Given the description of an element on the screen output the (x, y) to click on. 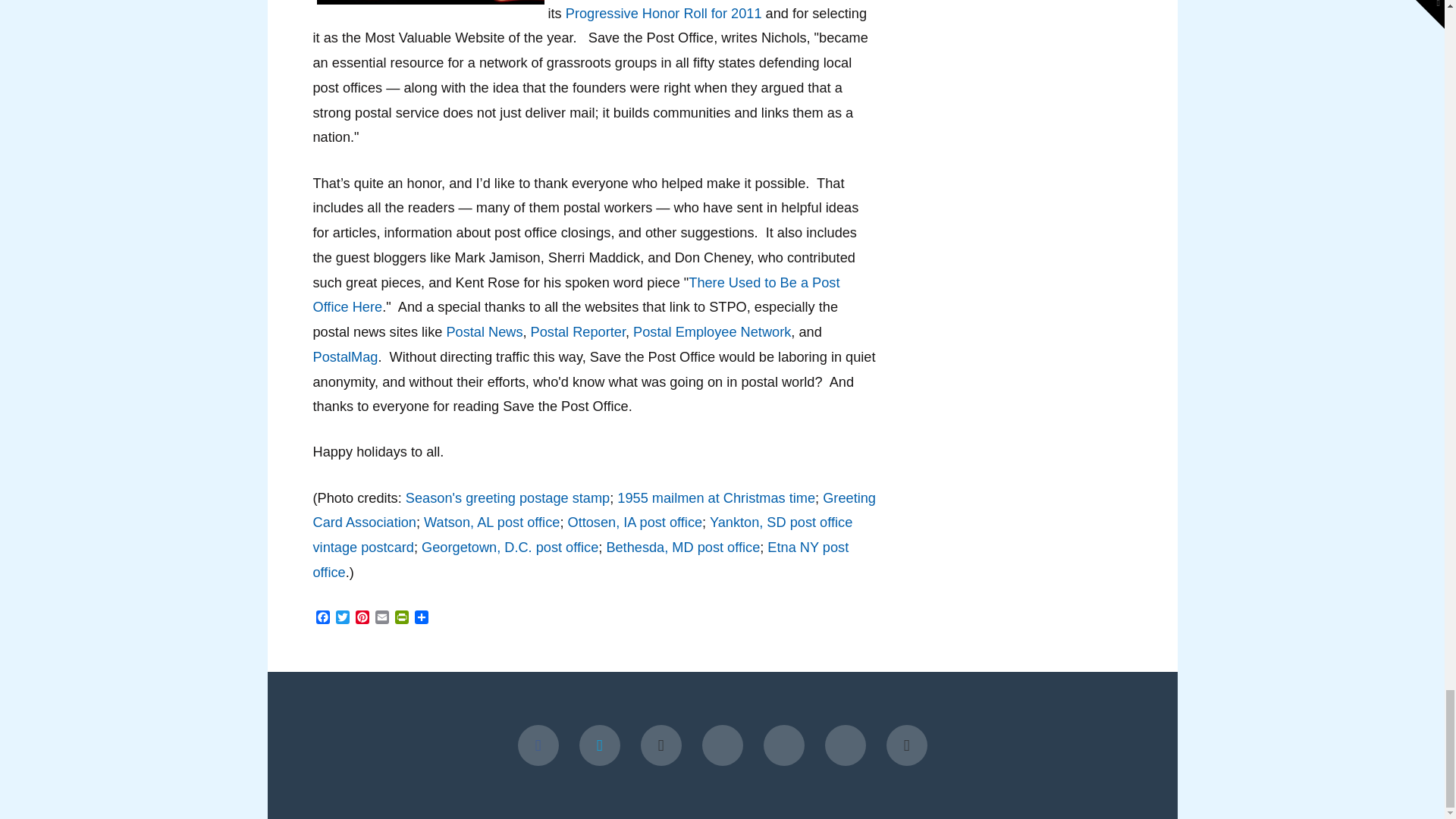
Twitter (341, 618)
Pinterest (361, 618)
Facebook (322, 618)
Email (381, 618)
YouTube (660, 744)
Facebook (536, 744)
PrintFriendly (400, 618)
